Given the description of an element on the screen output the (x, y) to click on. 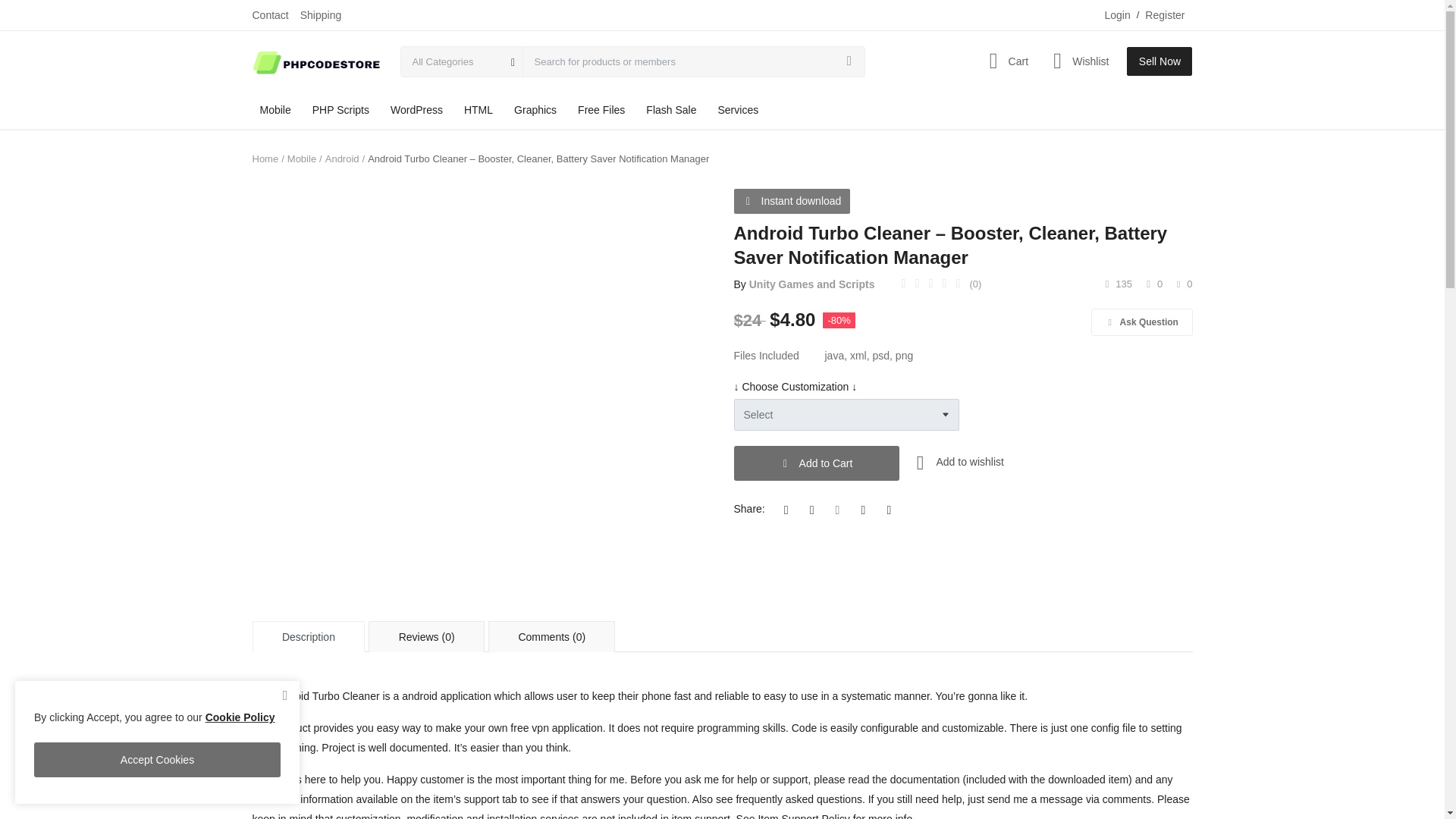
Shipping (320, 14)
PHP Scripts (340, 109)
Cart (1004, 60)
Free Files (600, 109)
Flash Sale (671, 109)
Register (1164, 14)
Sell Now (1159, 61)
Mobile (274, 109)
WordPress (415, 109)
Wishlist (1078, 60)
Graphics (535, 109)
Contact (269, 14)
HTML (478, 109)
Login (1116, 14)
All Categories (460, 61)
